Given the description of an element on the screen output the (x, y) to click on. 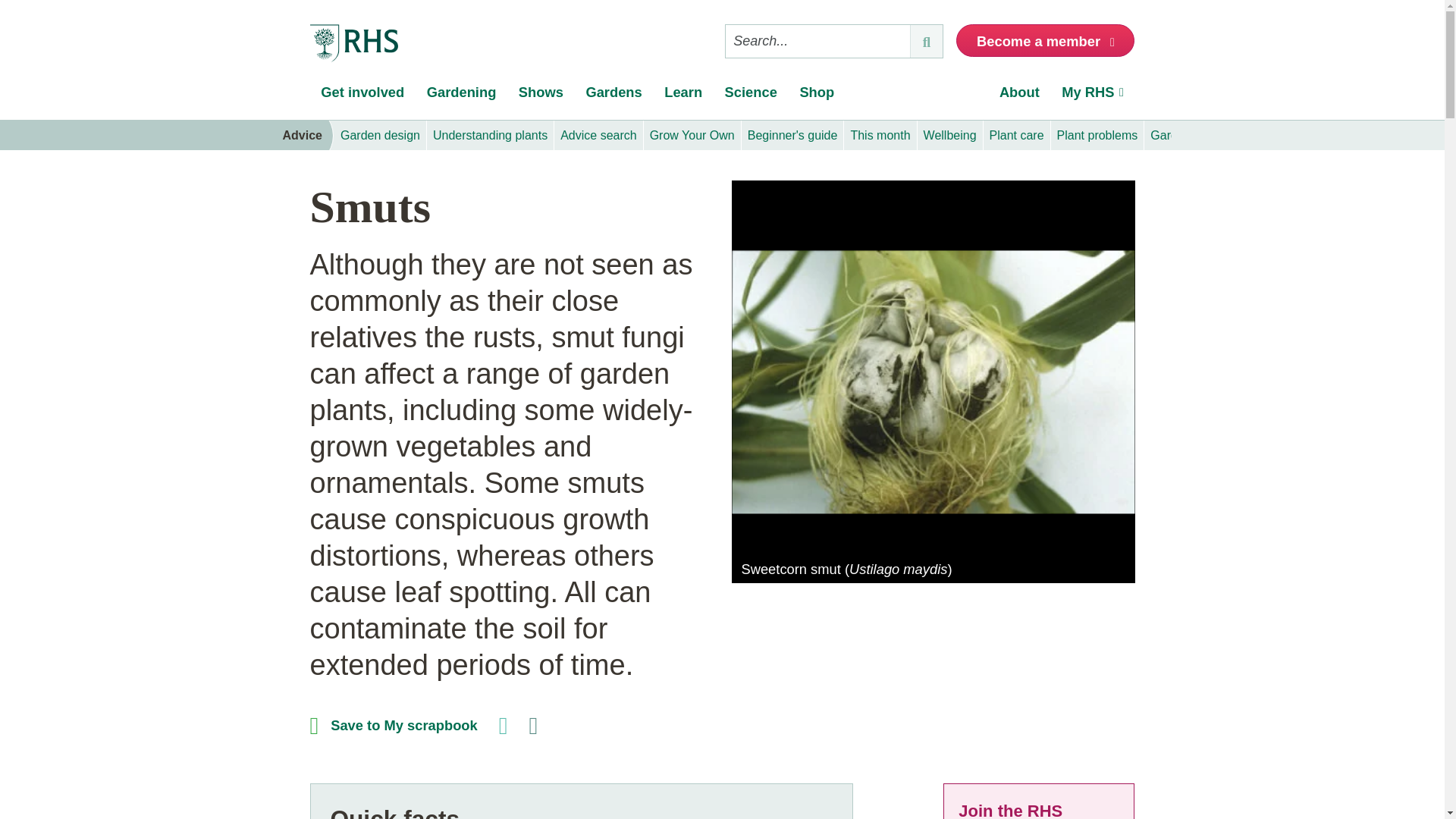
Shows (540, 96)
Gardens (614, 96)
Home (353, 43)
Submit (926, 41)
Shop (817, 96)
Gardening (460, 96)
Science (751, 96)
About (1018, 96)
Become a member (1045, 40)
Learn (682, 96)
